Given the description of an element on the screen output the (x, y) to click on. 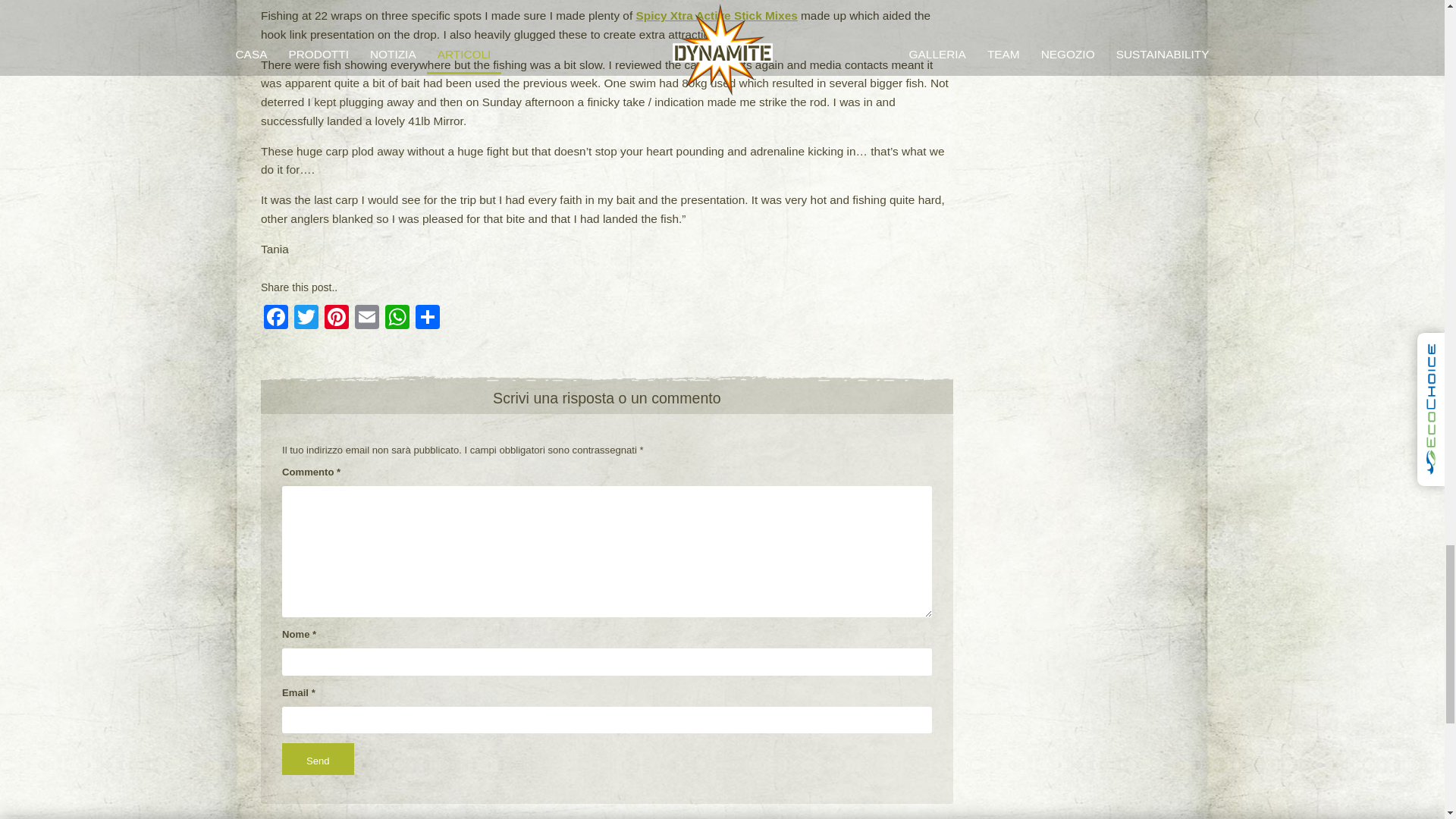
Email (366, 318)
Twitter (306, 318)
Facebook (275, 318)
Pinterest (336, 318)
Spicy Xtra Active Stick Mixes (715, 15)
Send (317, 758)
Twitter (306, 318)
Facebook (275, 318)
